Given the description of an element on the screen output the (x, y) to click on. 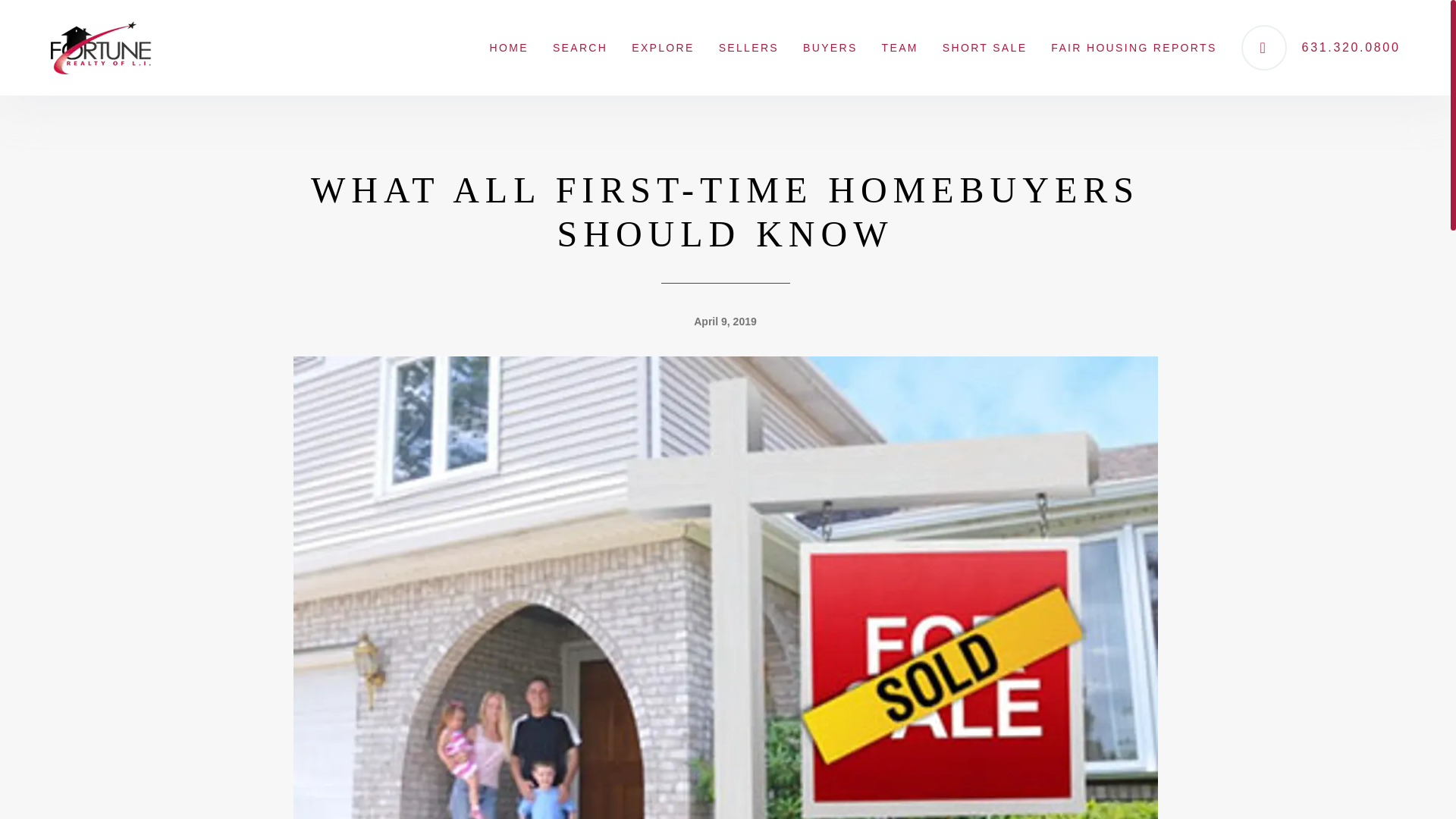
SEARCH (580, 47)
HOME (508, 47)
EXPLORE (663, 47)
SELLERS (748, 47)
